Given the description of an element on the screen output the (x, y) to click on. 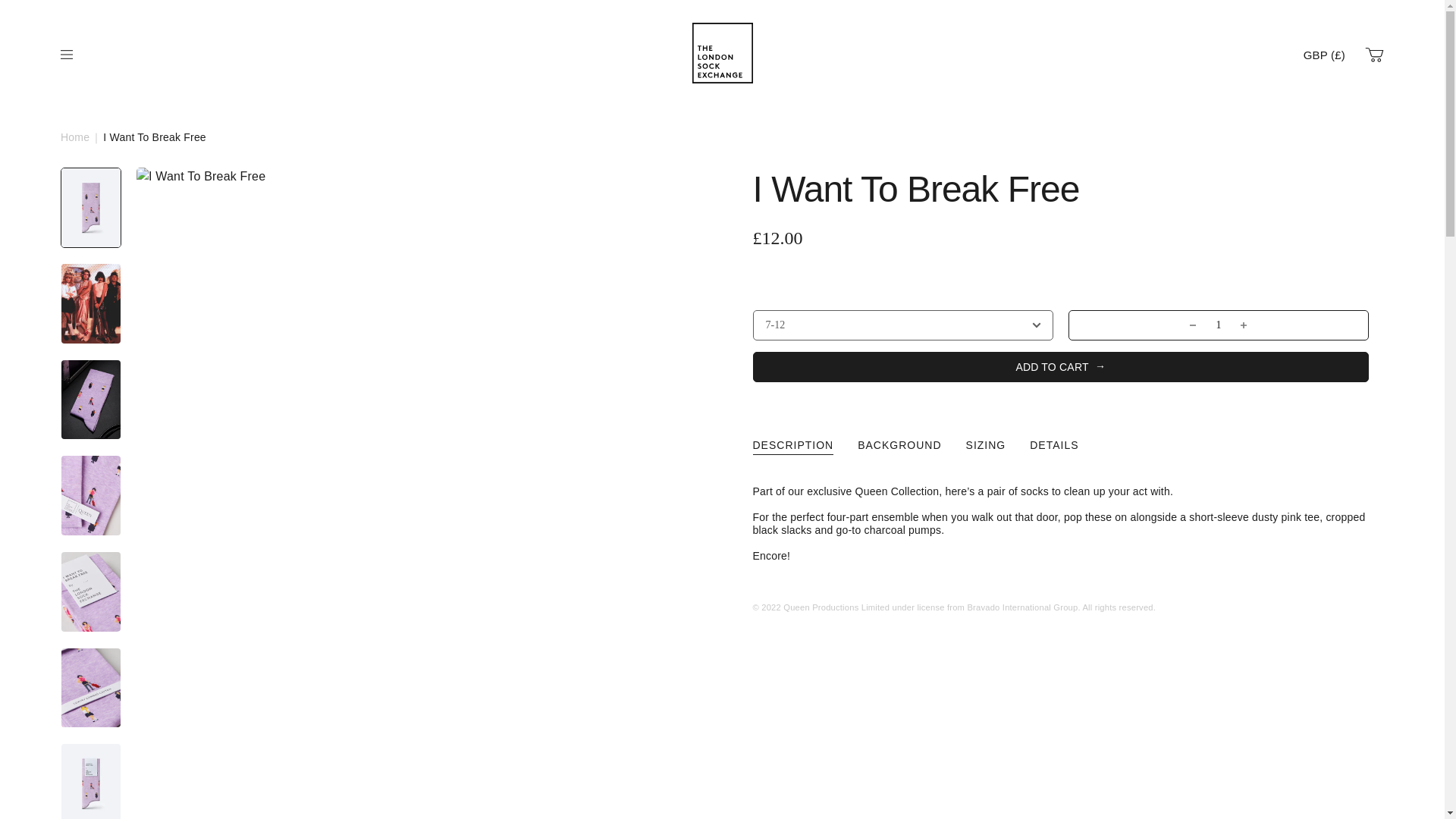
Decrease quantity by 1 (1192, 325)
Increase quantity by 1 (1243, 325)
1 (1218, 325)
